Given the description of an element on the screen output the (x, y) to click on. 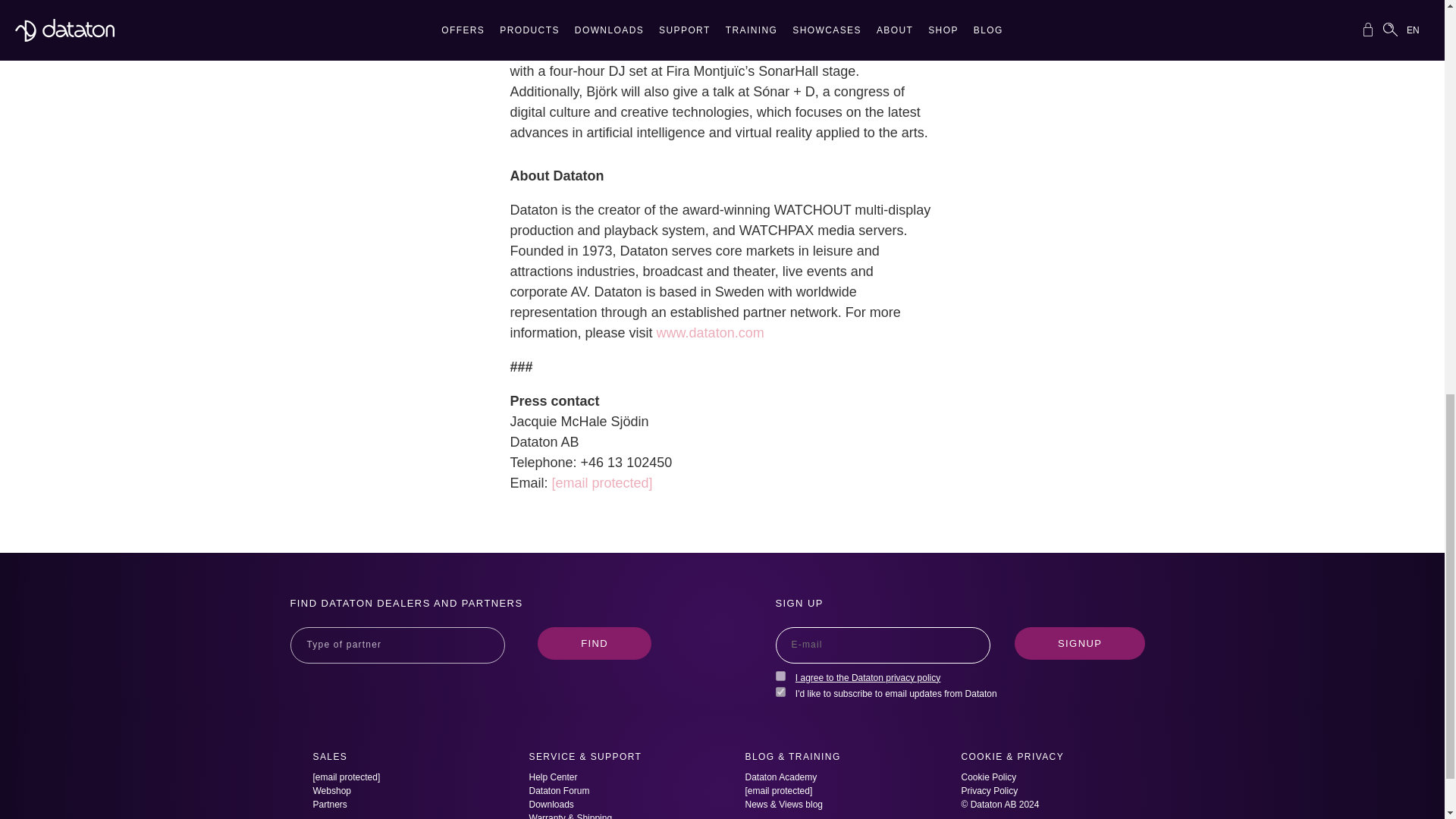
1 (779, 675)
1 (779, 691)
